Given the description of an element on the screen output the (x, y) to click on. 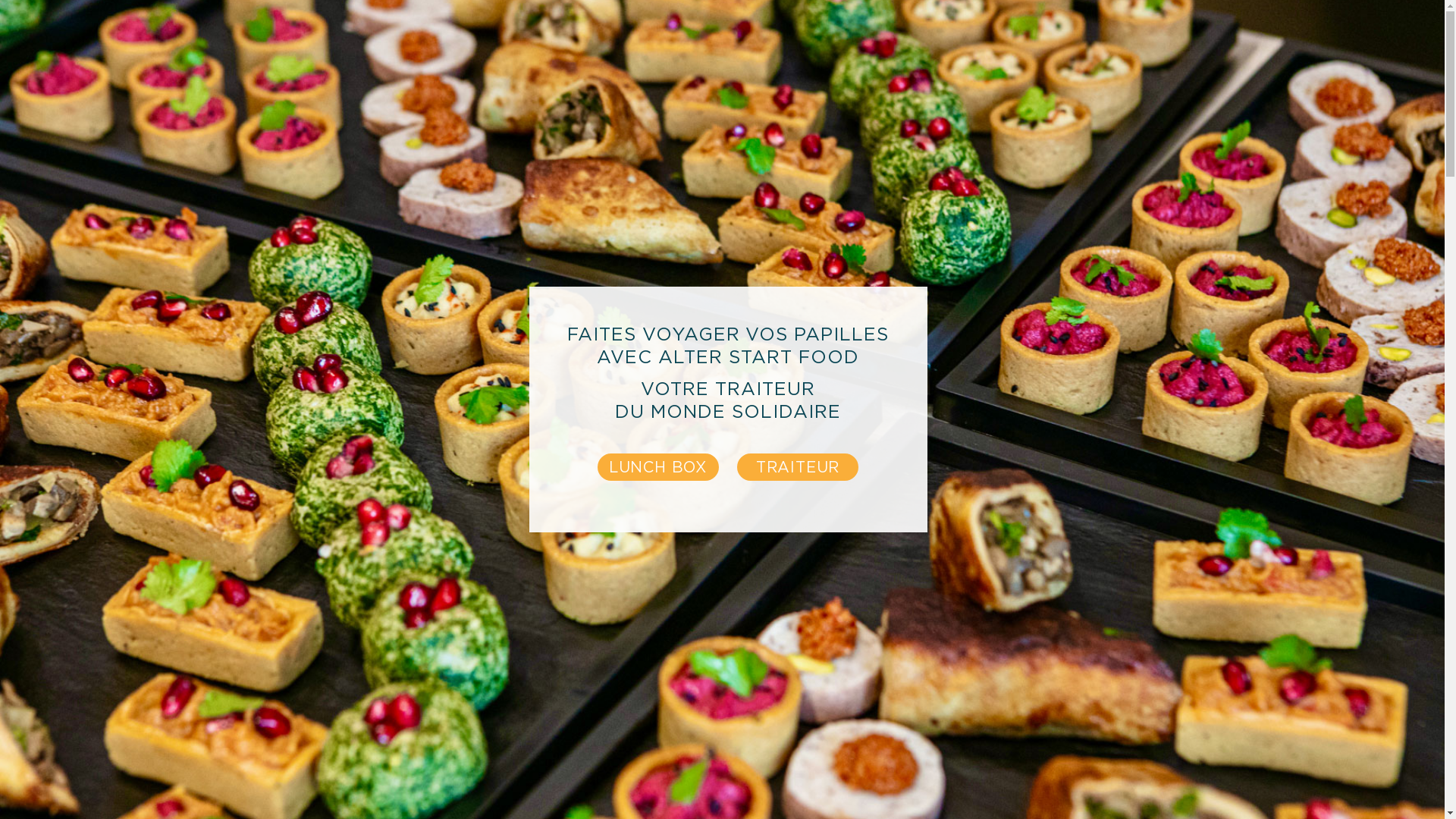
TRAITEUR Element type: text (797, 466)
LUNCH BOX Element type: text (657, 466)
